Given the description of an element on the screen output the (x, y) to click on. 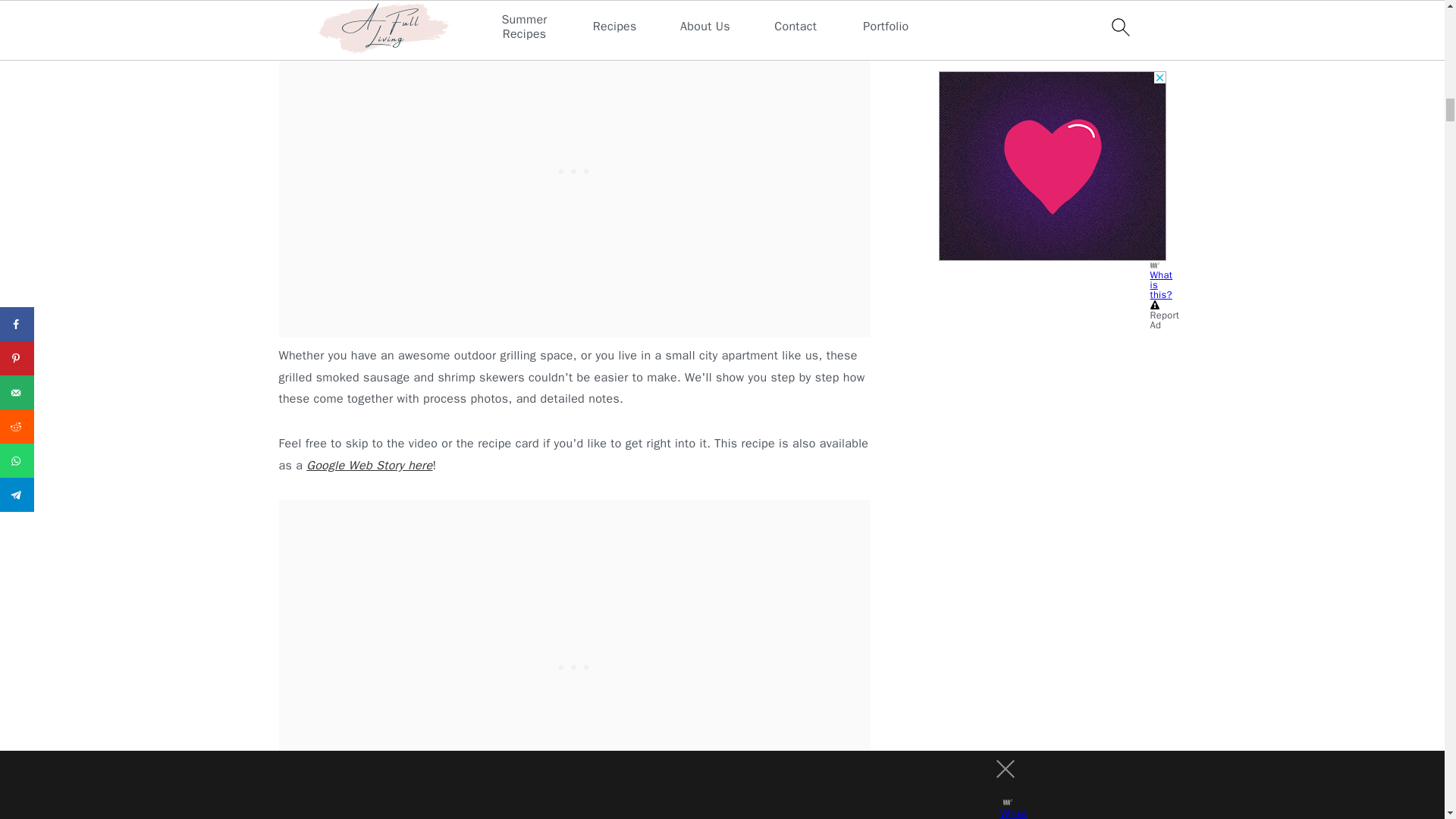
Google Web Story here (368, 465)
3rd party ad content (1052, 122)
